Given the description of an element on the screen output the (x, y) to click on. 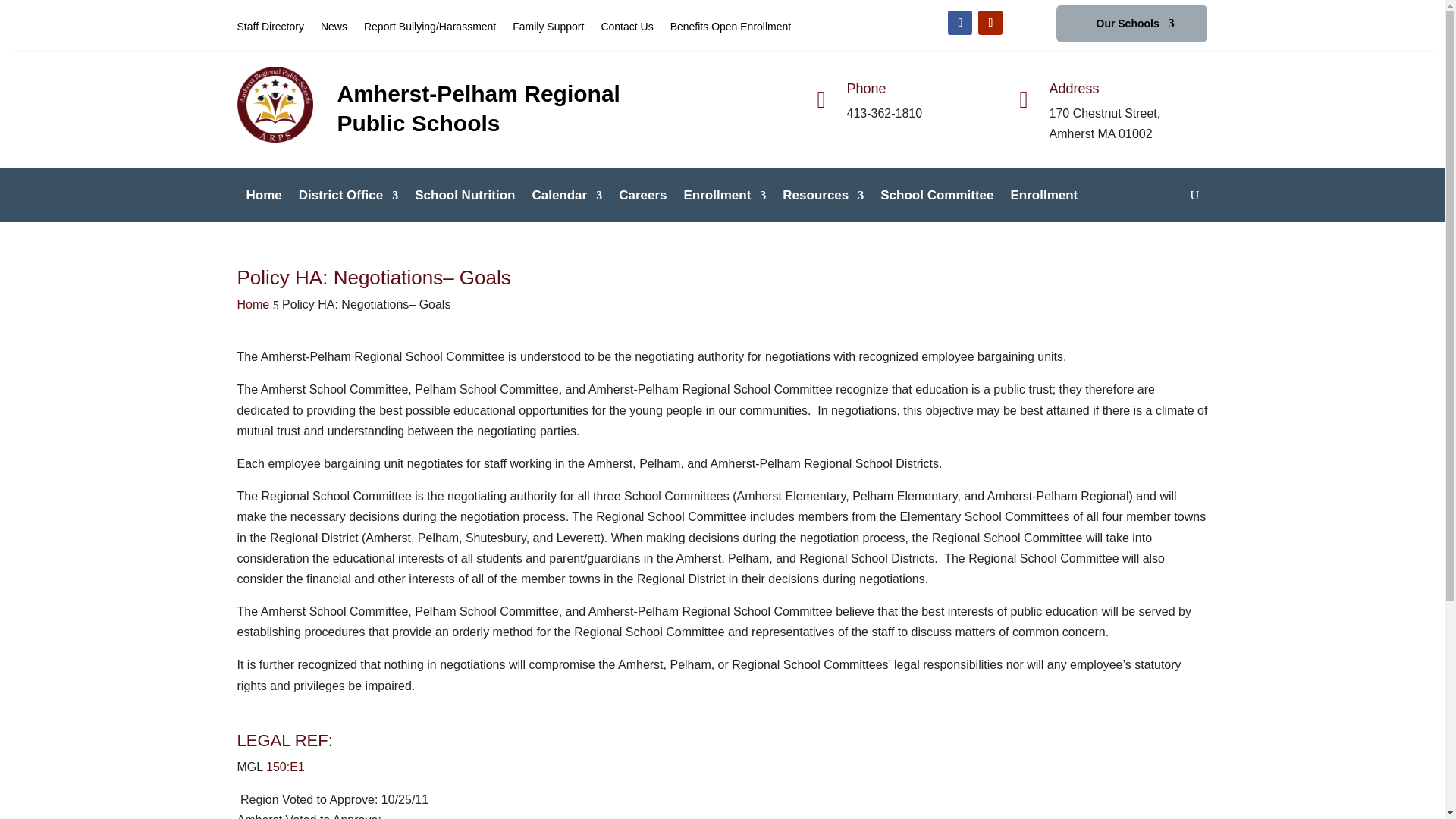
Follow on Youtube (990, 22)
YouTube (990, 22)
News (333, 29)
Facebook (959, 22)
Our Schools (1135, 26)
Benefits Open Enrollment (730, 29)
Contact Us (625, 29)
Staff Directory (268, 29)
Family Support (547, 29)
logo (274, 104)
Follow on Facebook (959, 22)
